Given the description of an element on the screen output the (x, y) to click on. 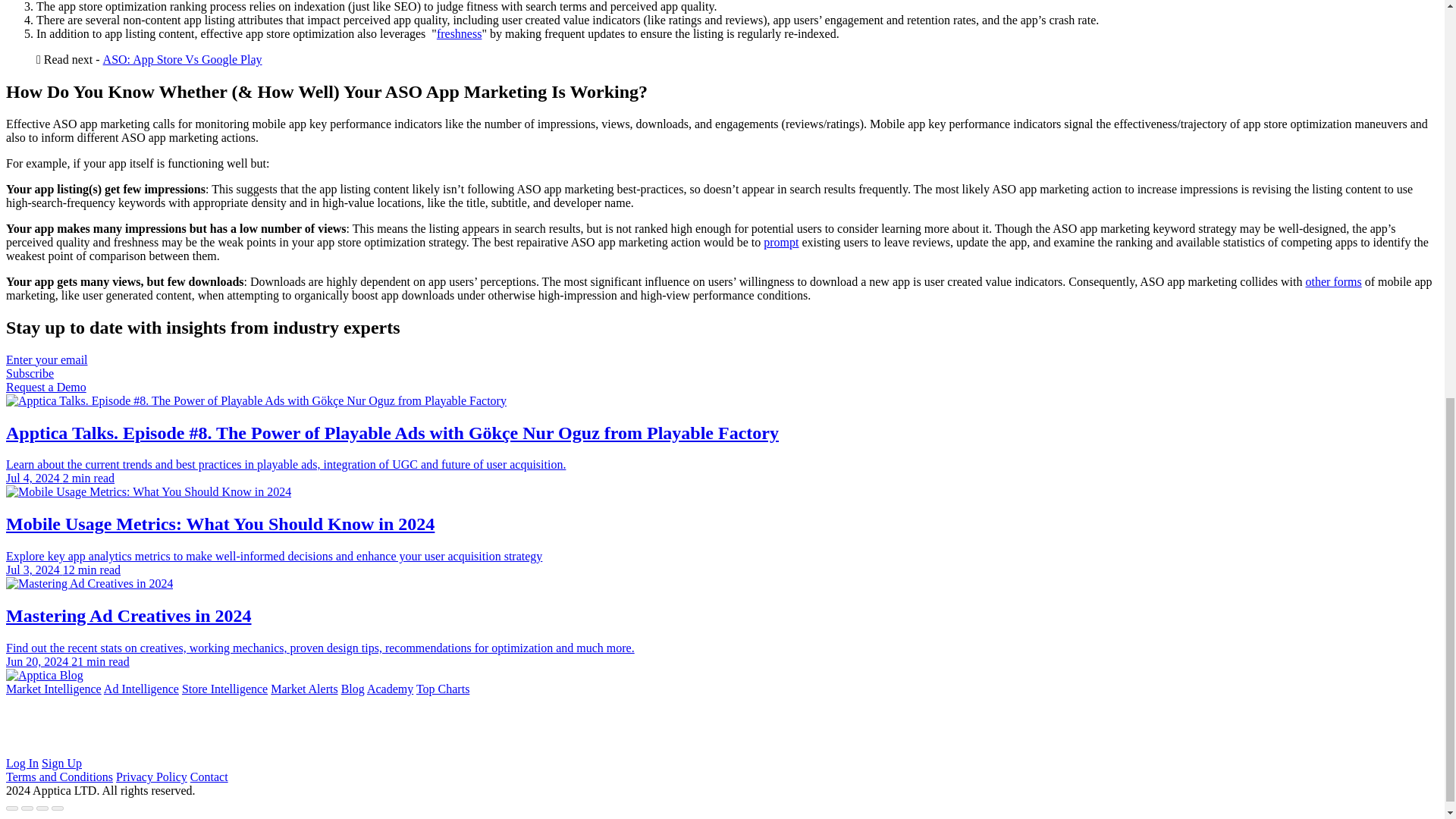
Store Intelligence (224, 688)
Ad Intelligence (141, 688)
Market Alerts (303, 688)
prompt (779, 241)
Market Intelligence (53, 688)
freshness (458, 33)
ASO: App Store Vs Google Play (182, 59)
other forms (1333, 281)
Request a Demo (45, 386)
Share (27, 807)
Blog (352, 688)
Toggle fullscreen (42, 807)
Page 1 Created with Sketch. (9, 701)
Academy (389, 688)
Top Charts (442, 688)
